Given the description of an element on the screen output the (x, y) to click on. 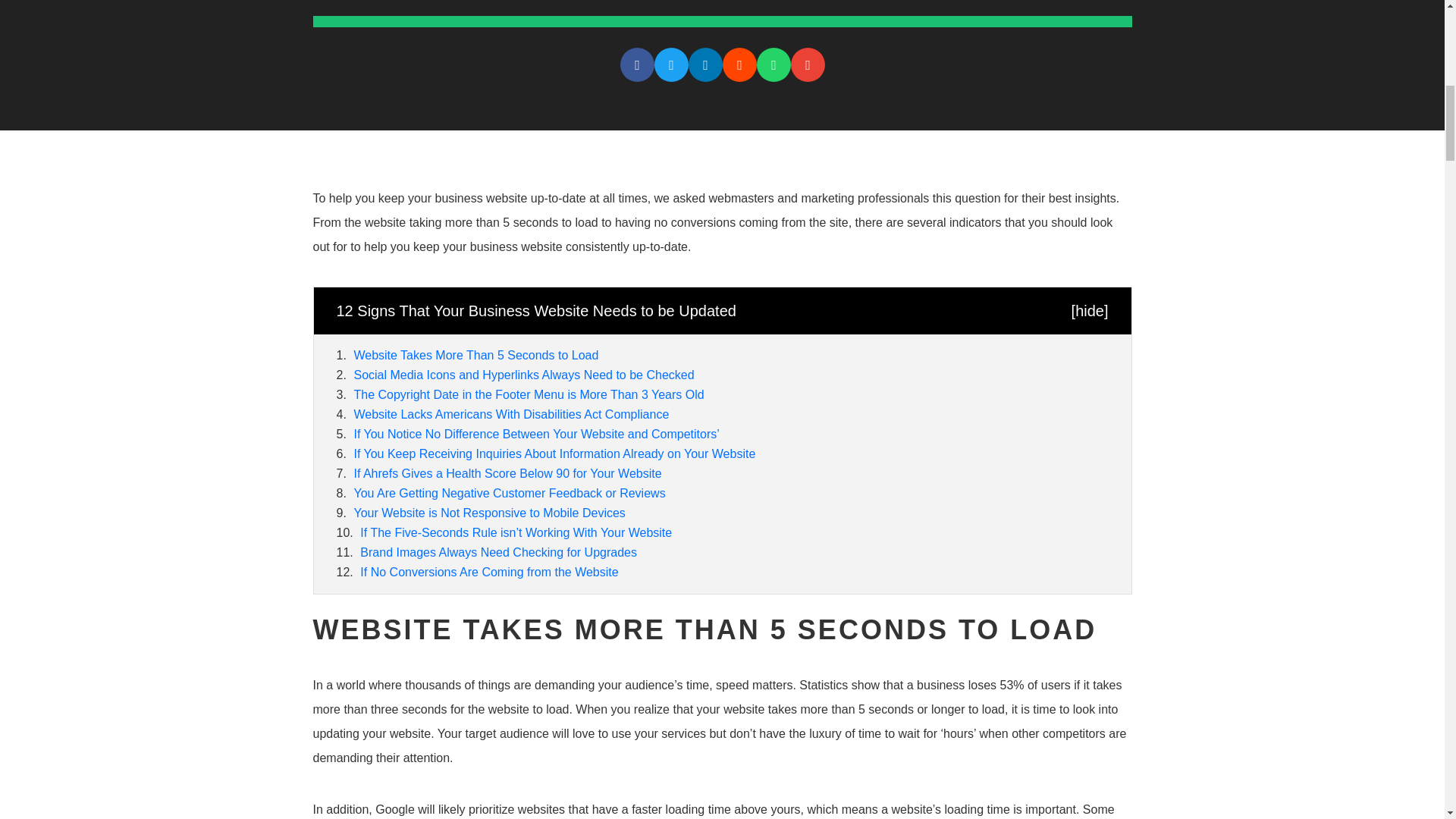
You Are Getting Negative Customer Feedback or Reviews (509, 492)
hide (1089, 310)
Website Lacks Americans With Disabilities Act Compliance (510, 413)
Website Takes More Than 5 Seconds to Load (475, 354)
If No Conversions Are Coming from the Website (488, 571)
If Ahrefs Gives a Health Score Below 90 for Your Website (507, 472)
Brand Images Always Need Checking for Upgrades (498, 552)
Social Media Icons and Hyperlinks Always Need to be Checked (523, 374)
Your Website is Not Responsive to Mobile Devices (488, 512)
